Given the description of an element on the screen output the (x, y) to click on. 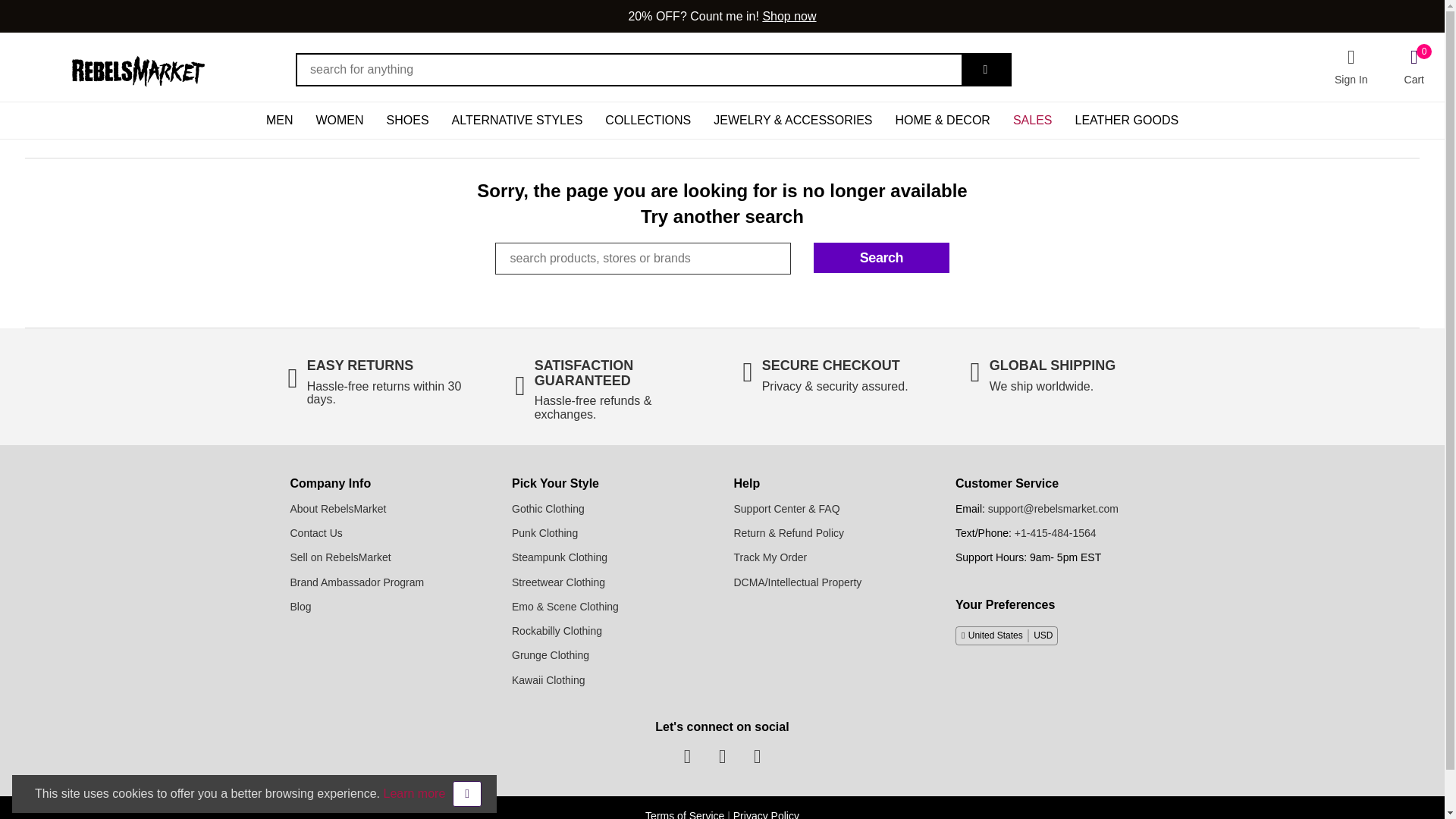
MEN (280, 119)
About Us  (337, 508)
Sign In (1351, 66)
WOMEN (338, 119)
Contact Us (315, 532)
